Given the description of an element on the screen output the (x, y) to click on. 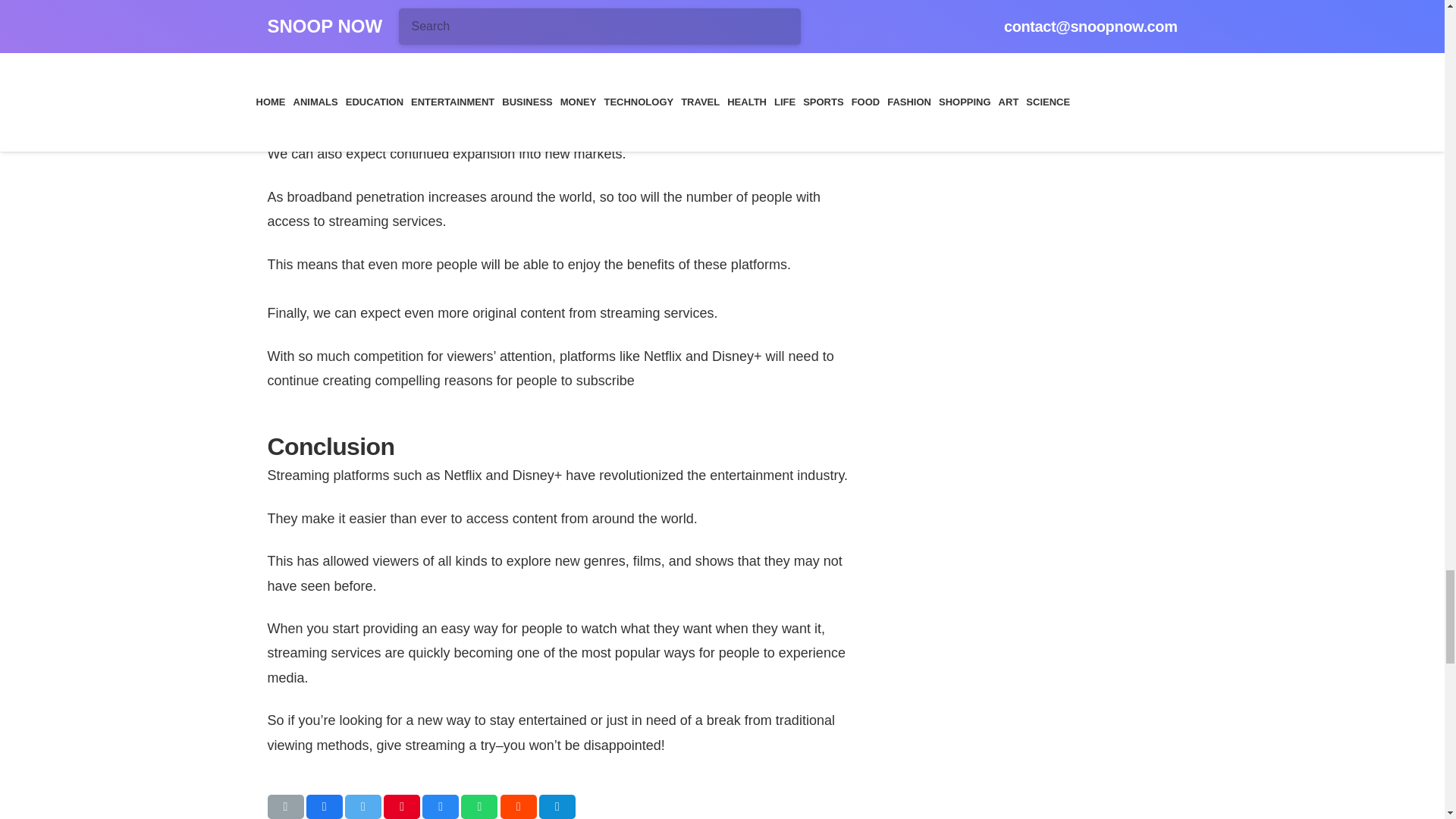
Pin this (402, 806)
Share this (323, 806)
Share this (479, 806)
Share this (556, 806)
Email this (284, 806)
Share this (518, 806)
Tweet this (363, 806)
Share this (440, 806)
